Given the description of an element on the screen output the (x, y) to click on. 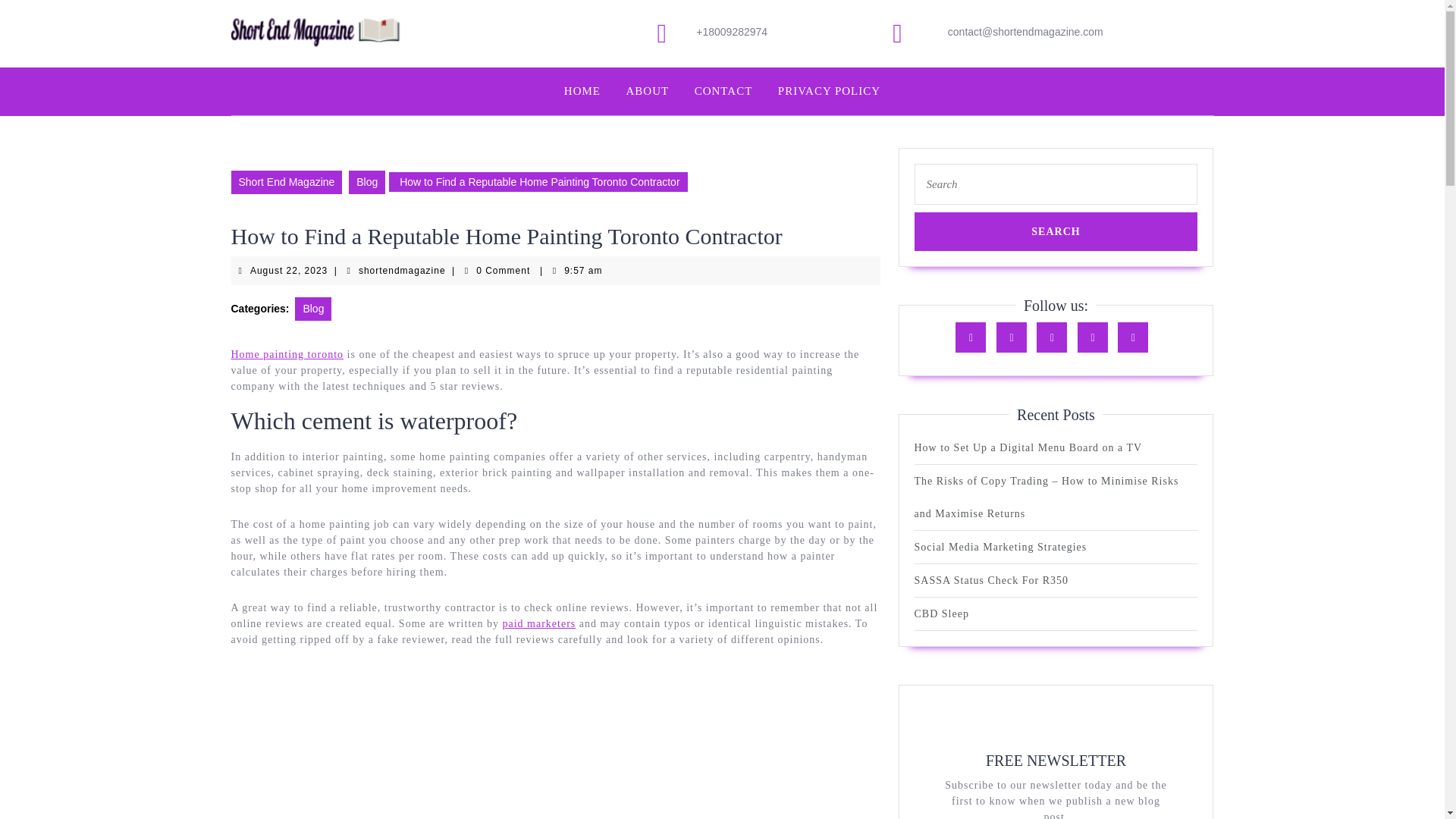
Short End Magazine (286, 181)
Youtube (1137, 337)
Blog (401, 270)
ABOUT (367, 181)
Linkedin (647, 91)
Search (1055, 337)
Instagram (1056, 231)
Home painting toronto (1096, 337)
Search (286, 354)
Twitter (1056, 231)
How to Set Up a Digital Menu Board on a TV (1014, 337)
Search (288, 270)
paid marketers (1028, 447)
